Given the description of an element on the screen output the (x, y) to click on. 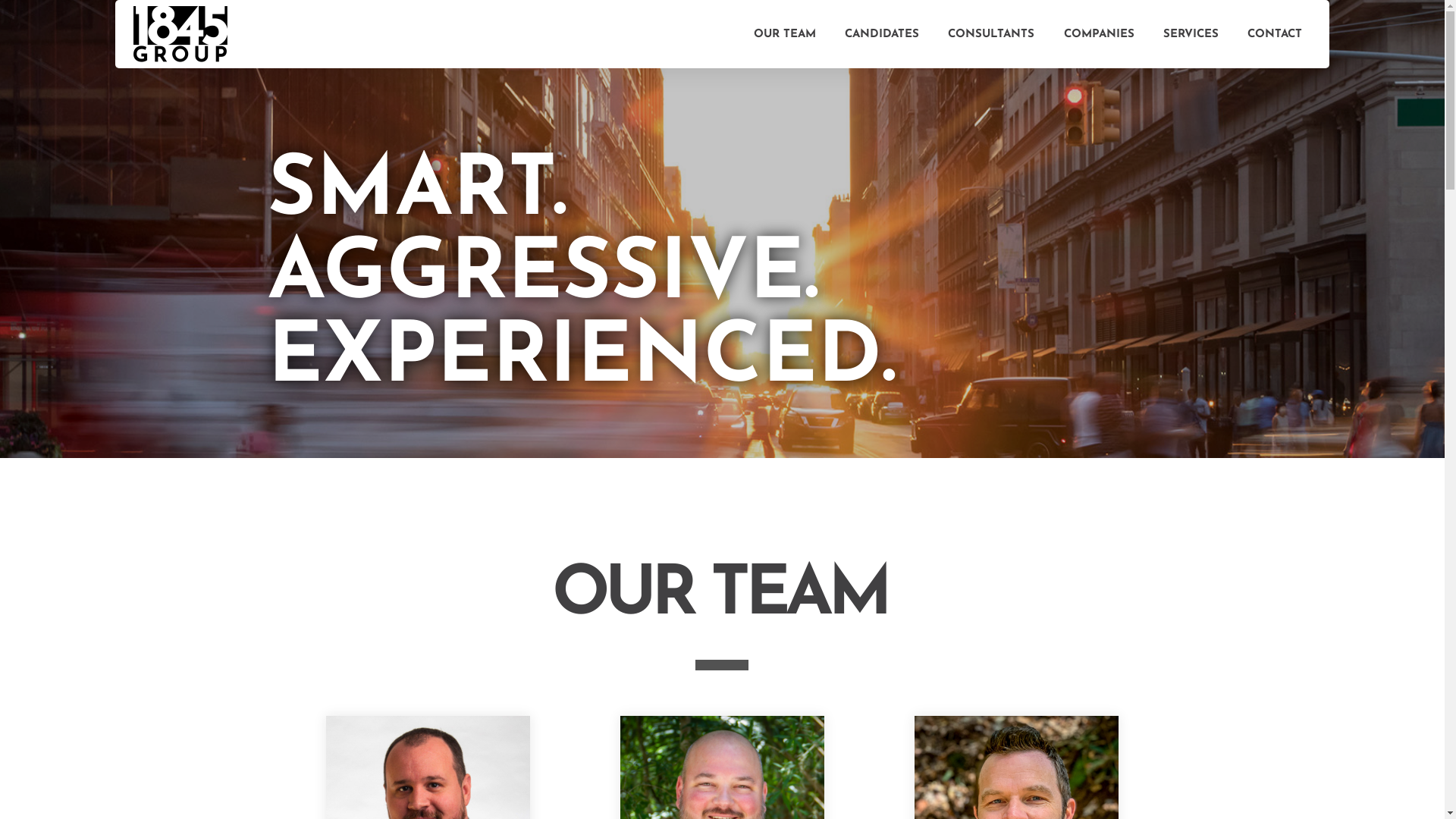
COMPANIES Element type: text (1098, 34)
CANDIDATES Element type: text (881, 34)
OUR TEAM Element type: text (783, 34)
CONTACT Element type: text (1274, 34)
CONSULTANTS Element type: text (990, 34)
SERVICES Element type: text (1190, 34)
